Given the description of an element on the screen output the (x, y) to click on. 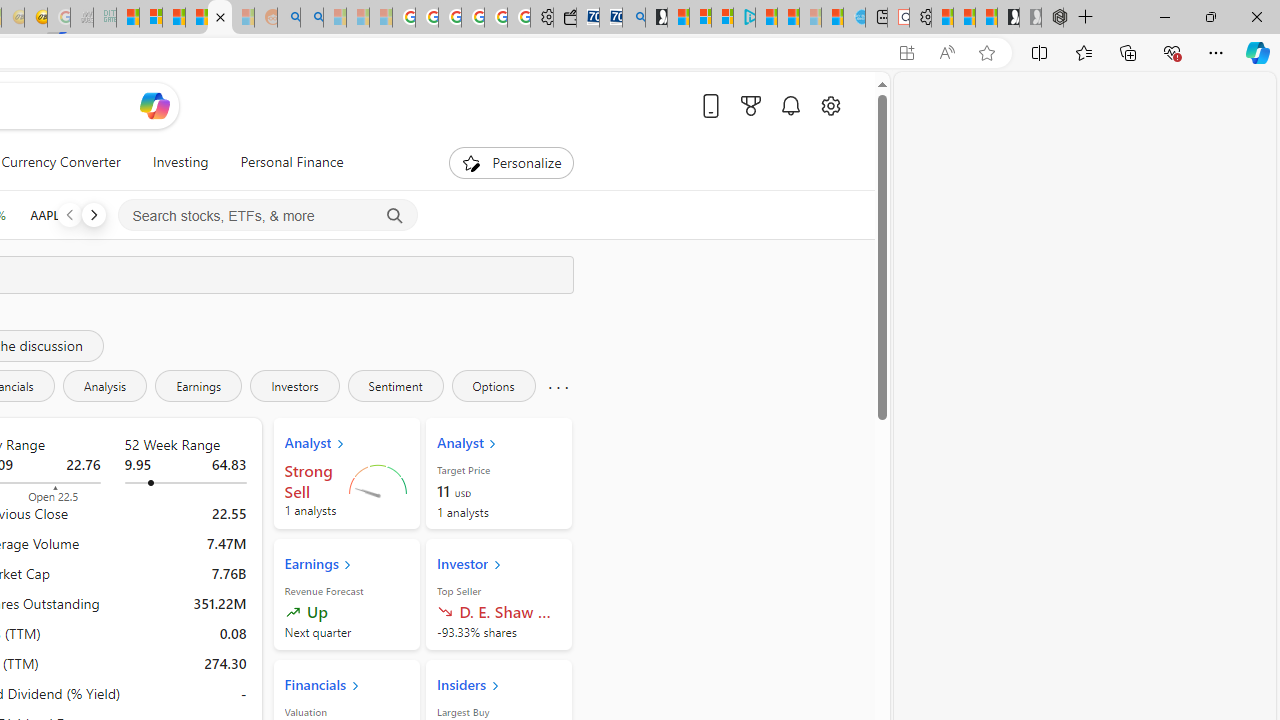
App available. Install Start Money (906, 53)
Next (93, 214)
Currency Converter (61, 162)
Investing (180, 162)
